Given the description of an element on the screen output the (x, y) to click on. 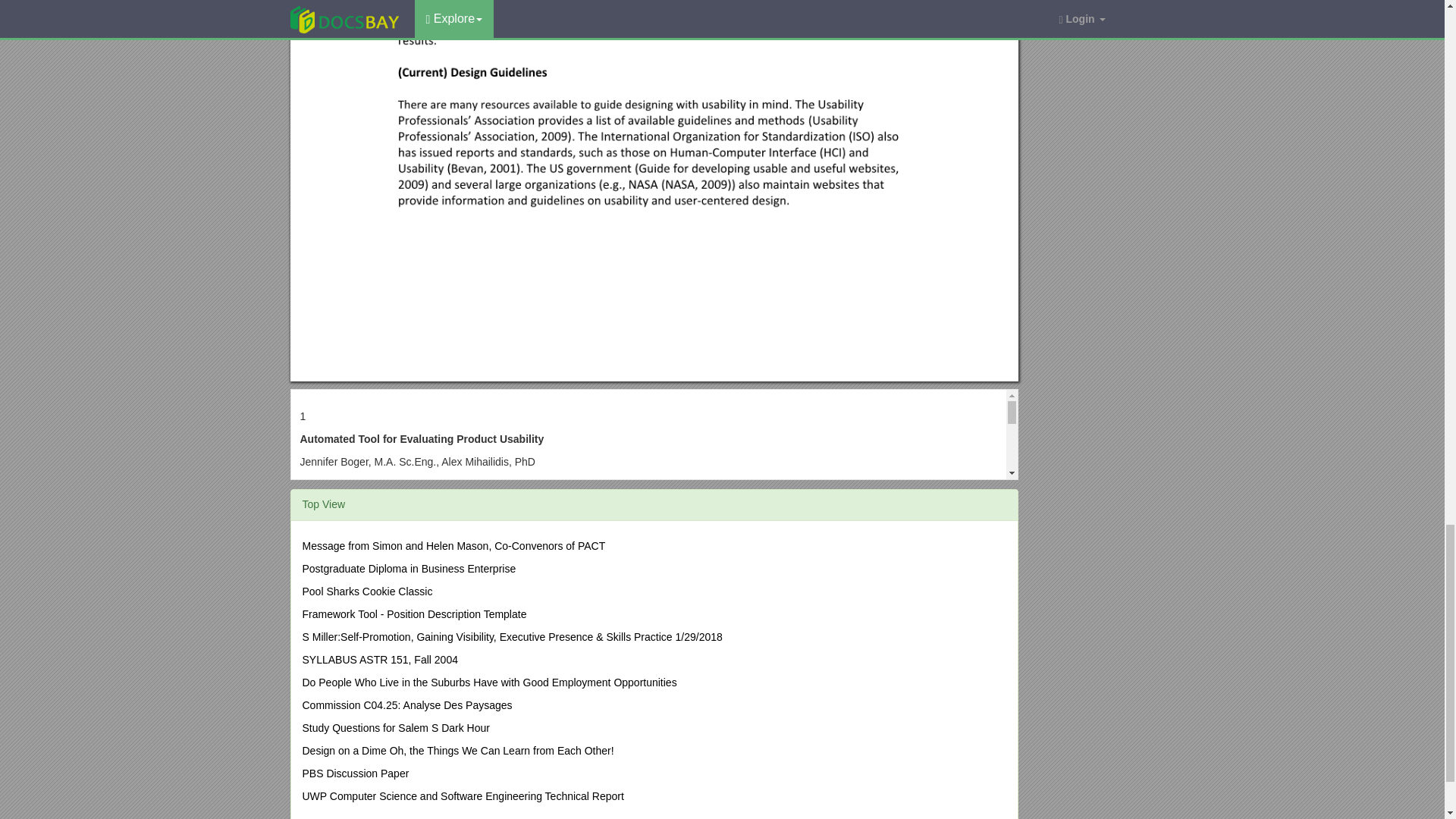
Commission C04.25: Analyse Des Paysages (406, 705)
PBS Discussion Paper (355, 773)
Message from Simon and Helen Mason, Co-Convenors of PACT (453, 545)
Postgraduate Diploma in Business Enterprise (408, 568)
Study Questions for Salem S Dark Hour (395, 727)
Framework Tool - Position Description Template (413, 613)
SYLLABUS ASTR 151, Fall 2004 (379, 659)
Pool Sharks Cookie Classic (366, 591)
